Given the description of an element on the screen output the (x, y) to click on. 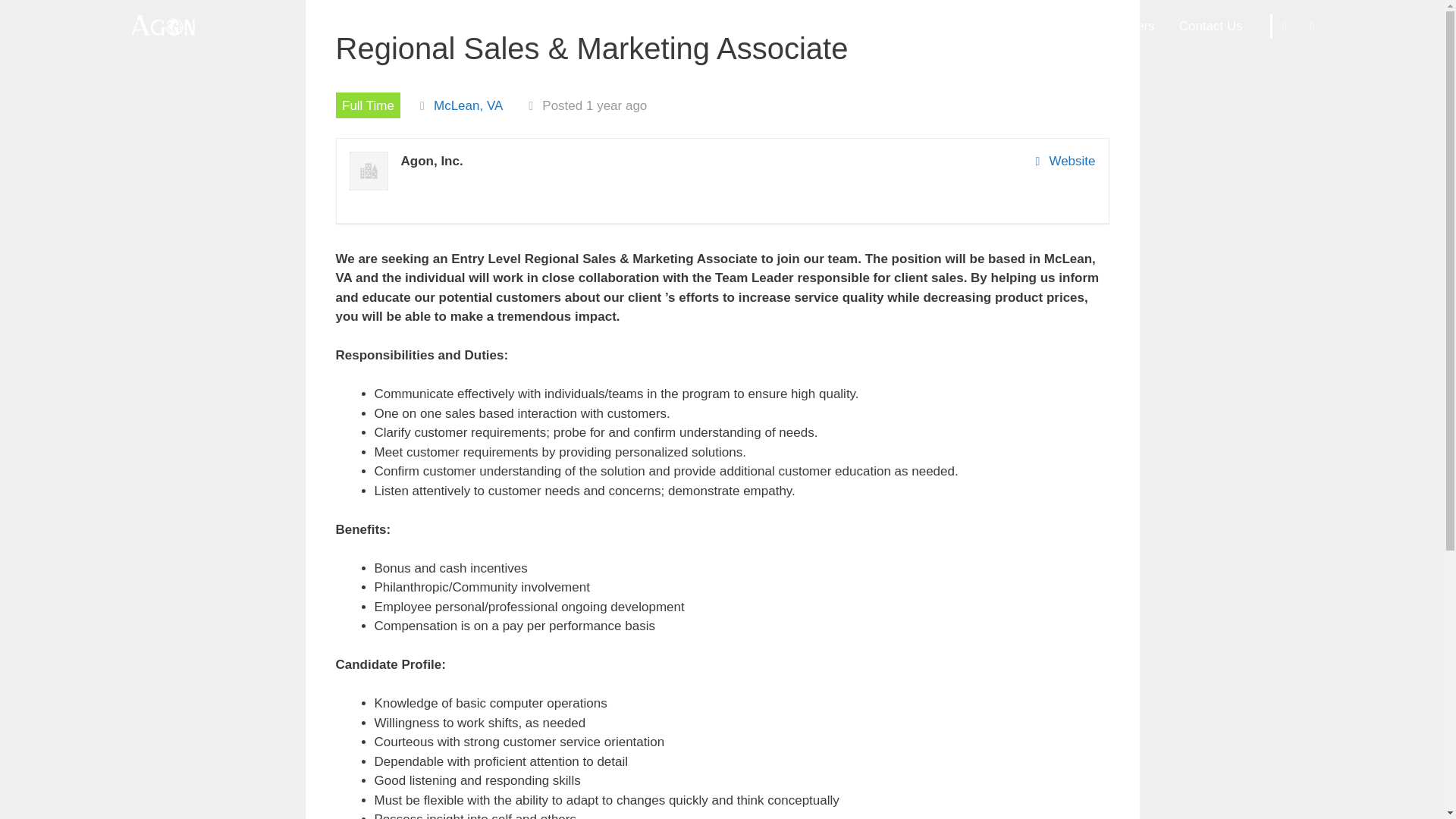
Contact Us (1211, 26)
Website (1064, 161)
Services (993, 26)
McLean, VA (467, 105)
Culture (1063, 26)
Careers (1131, 26)
About Us (917, 26)
